Given the description of an element on the screen output the (x, y) to click on. 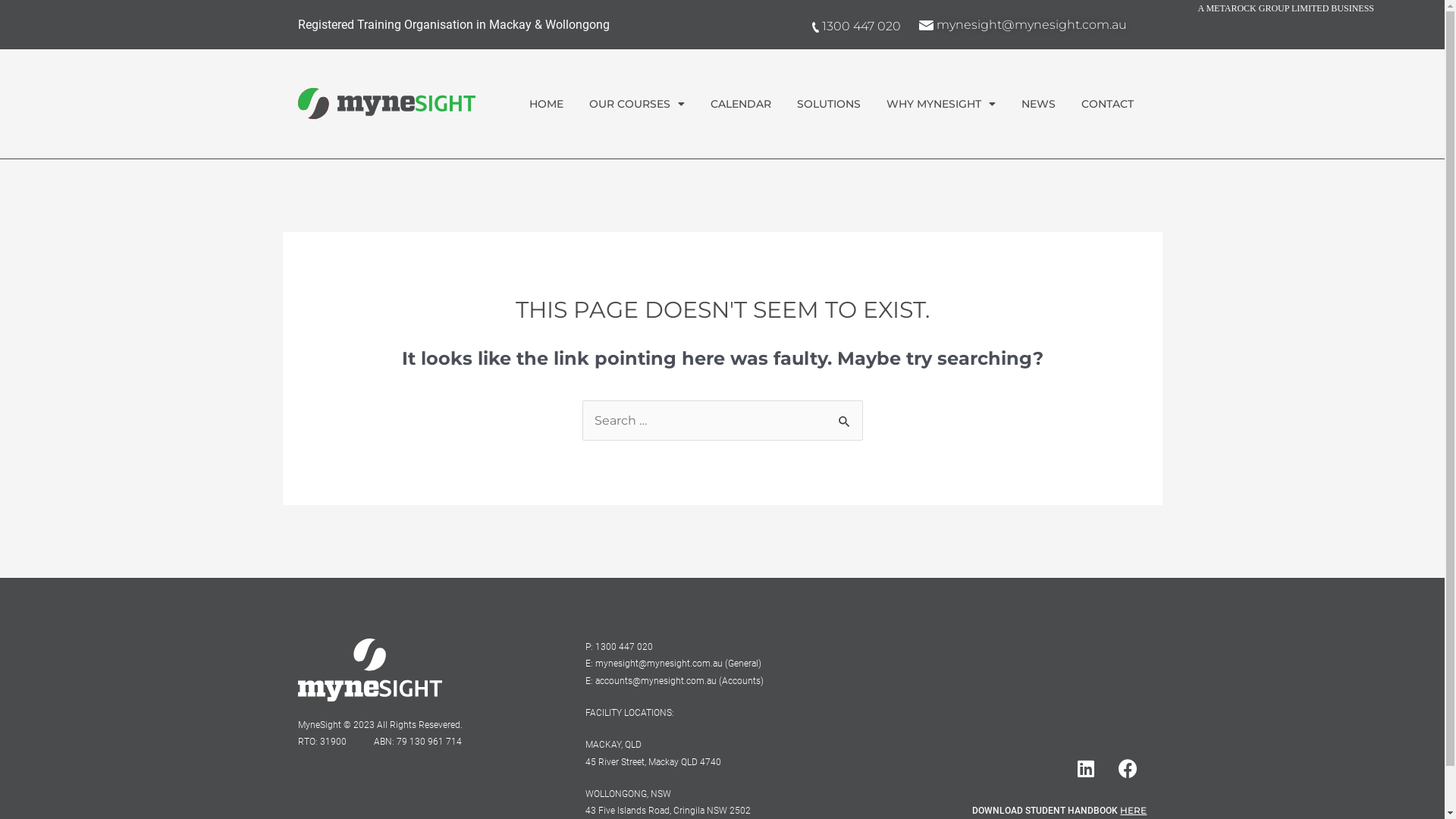
SOLUTIONS Element type: text (828, 103)
HOME Element type: text (546, 103)
HERE Element type: text (1133, 809)
OUR COURSES Element type: text (636, 103)
mynesight@mynesight.com.au Element type: text (1022, 24)
1300 447 020 Element type: text (855, 25)
CONTACT Element type: text (1107, 103)
WHY MYNESIGHT Element type: text (940, 103)
logo-white Element type: hover (369, 669)
NEWS Element type: text (1038, 103)
Search Element type: text (845, 416)
CALENDAR Element type: text (740, 103)
